Given the description of an element on the screen output the (x, y) to click on. 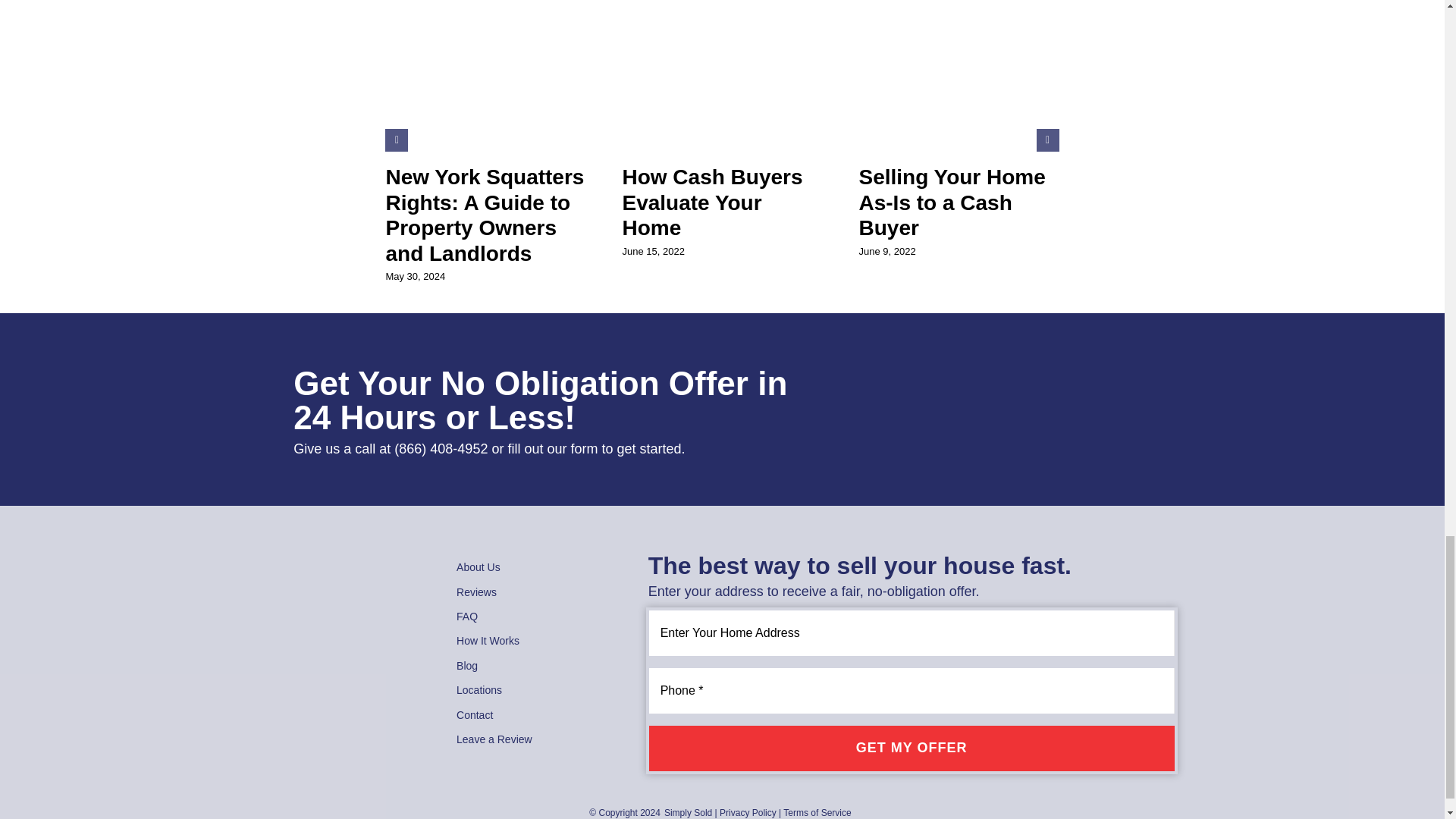
Selling Your Home As-Is to a Cash Buyer (952, 202)
How Cash Buyers Evaluate Your Home (711, 202)
About Us (533, 566)
Get My Offer (911, 748)
Reviews (533, 591)
How Cash Buyers Evaluate Your Home (711, 202)
Selling Your Home As-Is to a Cash Buyer (952, 202)
